Given the description of an element on the screen output the (x, y) to click on. 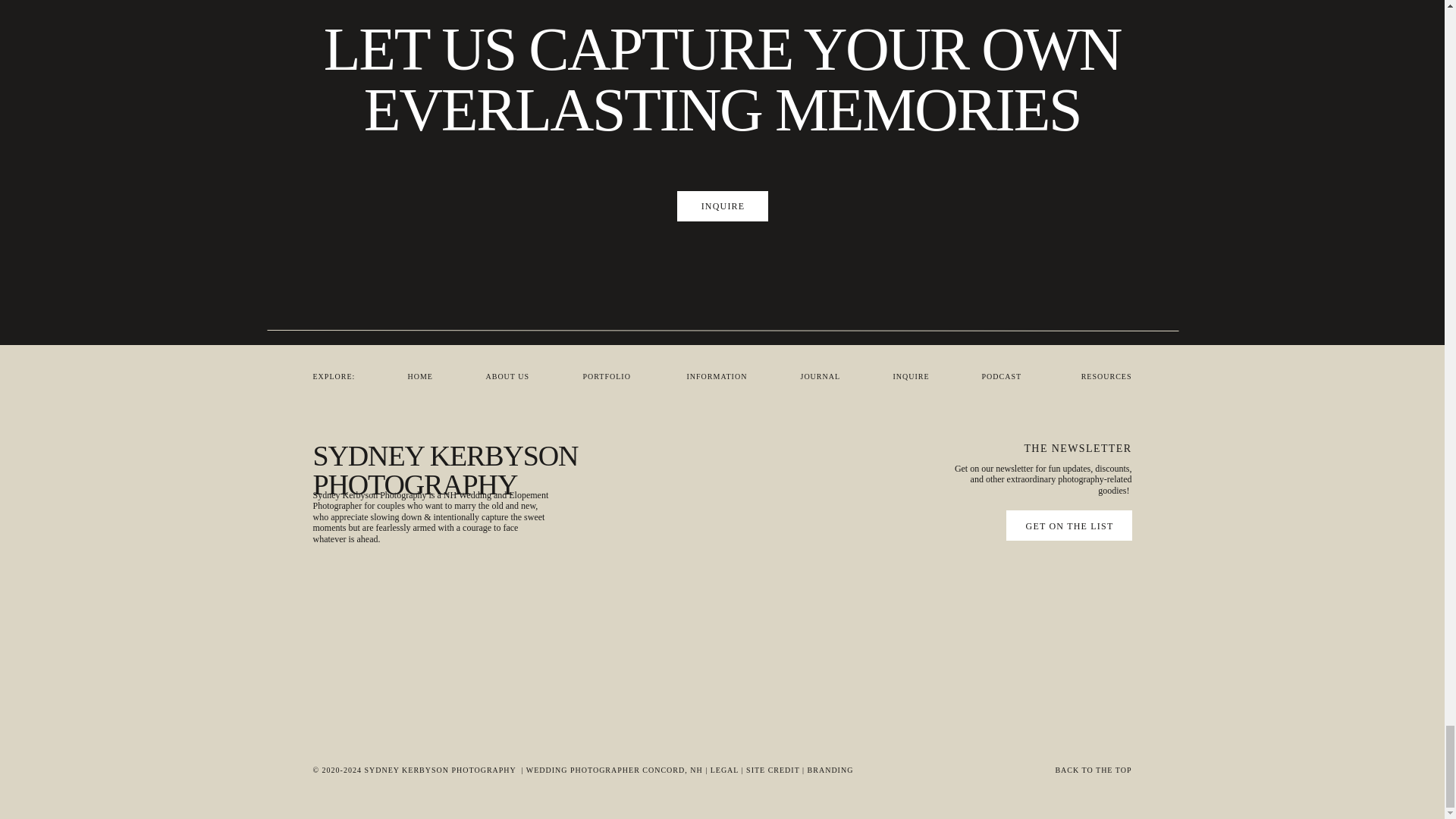
INFORMATION (724, 376)
RESOURCES (1103, 376)
JOURNAL (826, 376)
GET ON THE LIST (1069, 525)
PODCAST (1006, 376)
INQUIRE (723, 206)
INQUIRE (916, 376)
HOME (426, 376)
BACK TO THE TOP (996, 769)
PORTFOLIO (613, 376)
ABOUT US (511, 376)
